Given the description of an element on the screen output the (x, y) to click on. 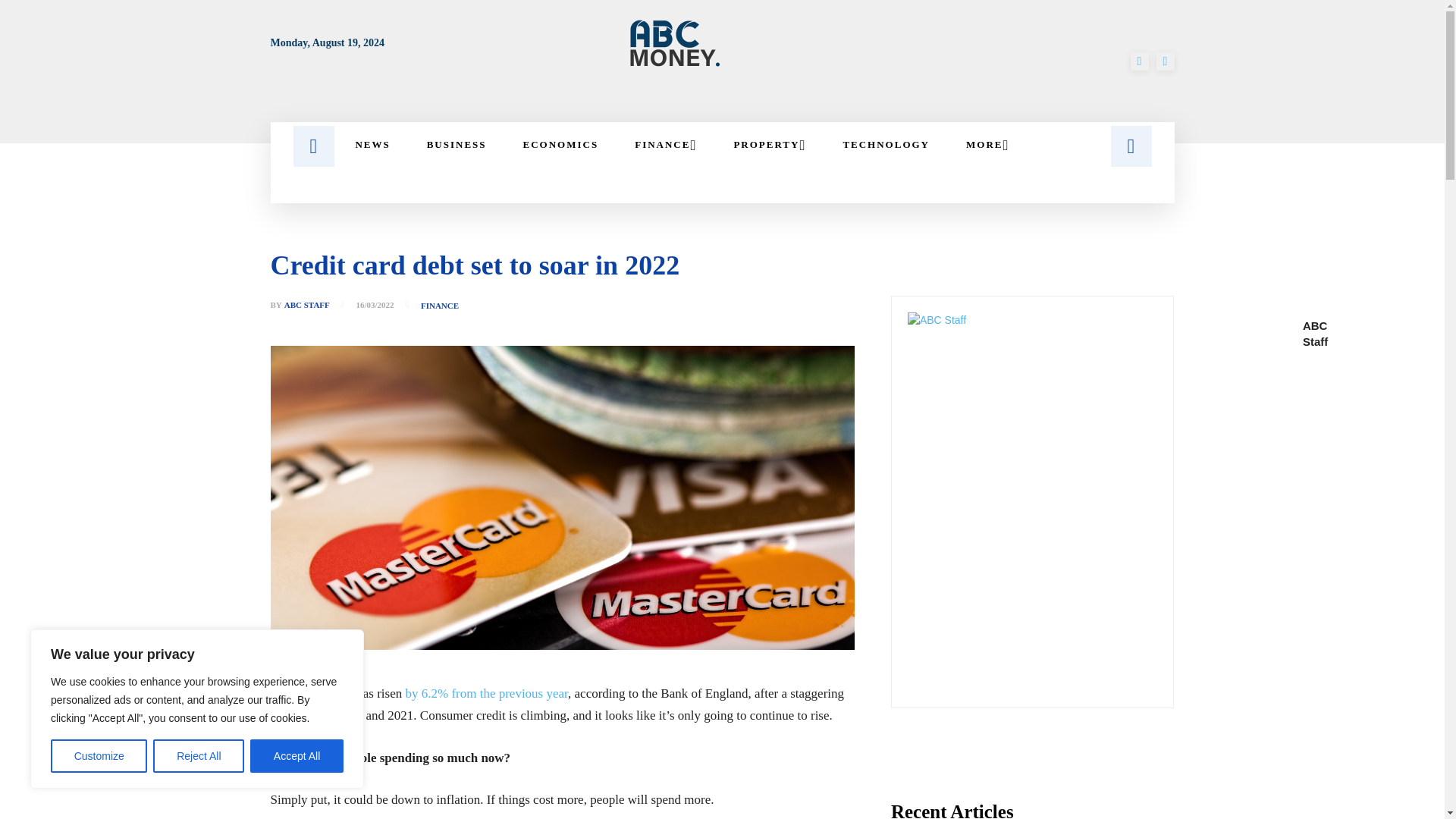
FINANCE (664, 143)
Customize (98, 756)
NEWS (371, 143)
Facebook (1138, 60)
BUSINESS (457, 143)
Reject All (198, 756)
PROPERTY (769, 143)
Twitter (1164, 60)
ECONOMICS (561, 143)
